Given the description of an element on the screen output the (x, y) to click on. 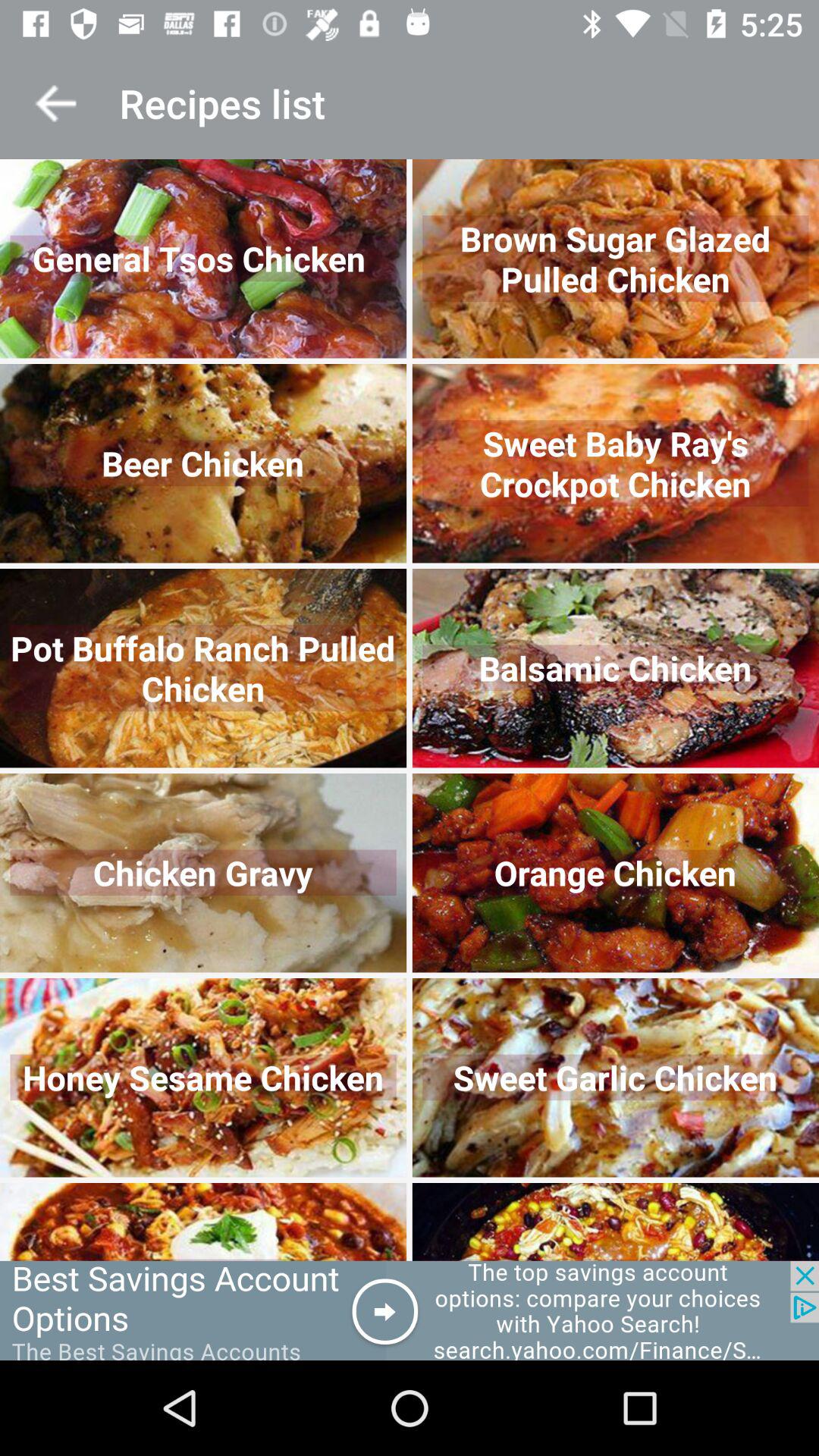
advertising (409, 1310)
